Given the description of an element on the screen output the (x, y) to click on. 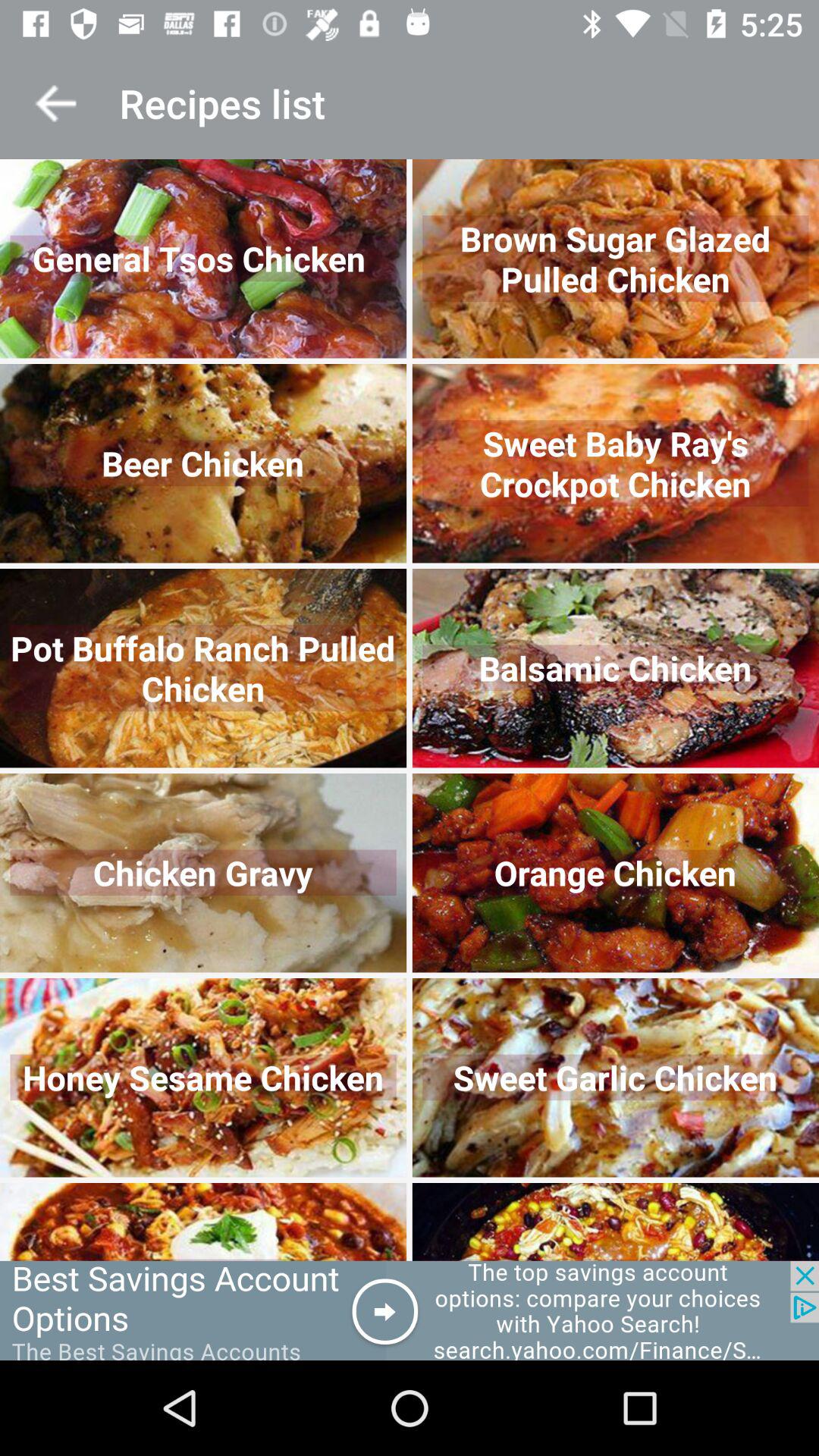
advertising (409, 1310)
